Given the description of an element on the screen output the (x, y) to click on. 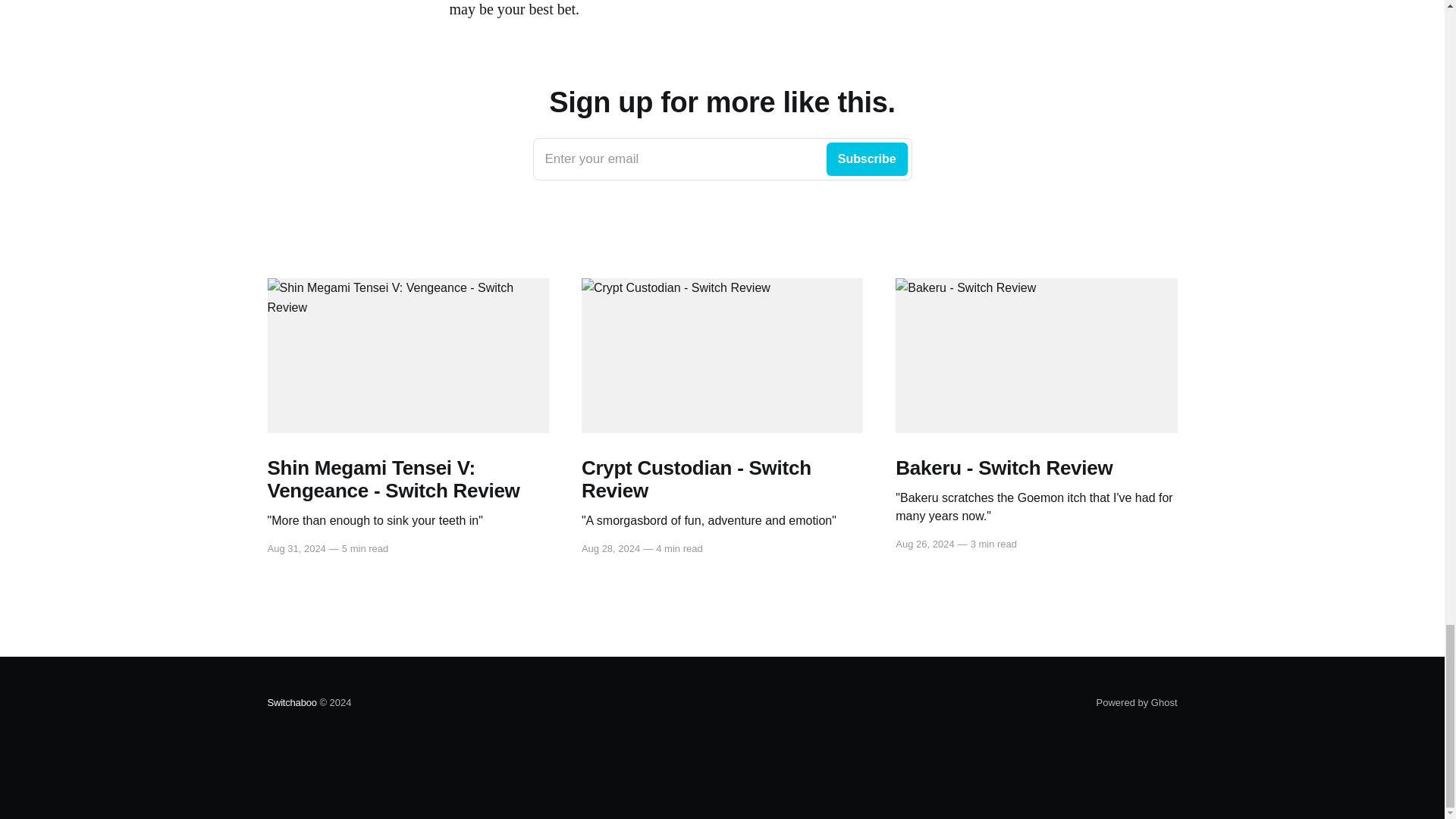
Powered by Ghost (1136, 702)
Switchaboo (721, 159)
